Given the description of an element on the screen output the (x, y) to click on. 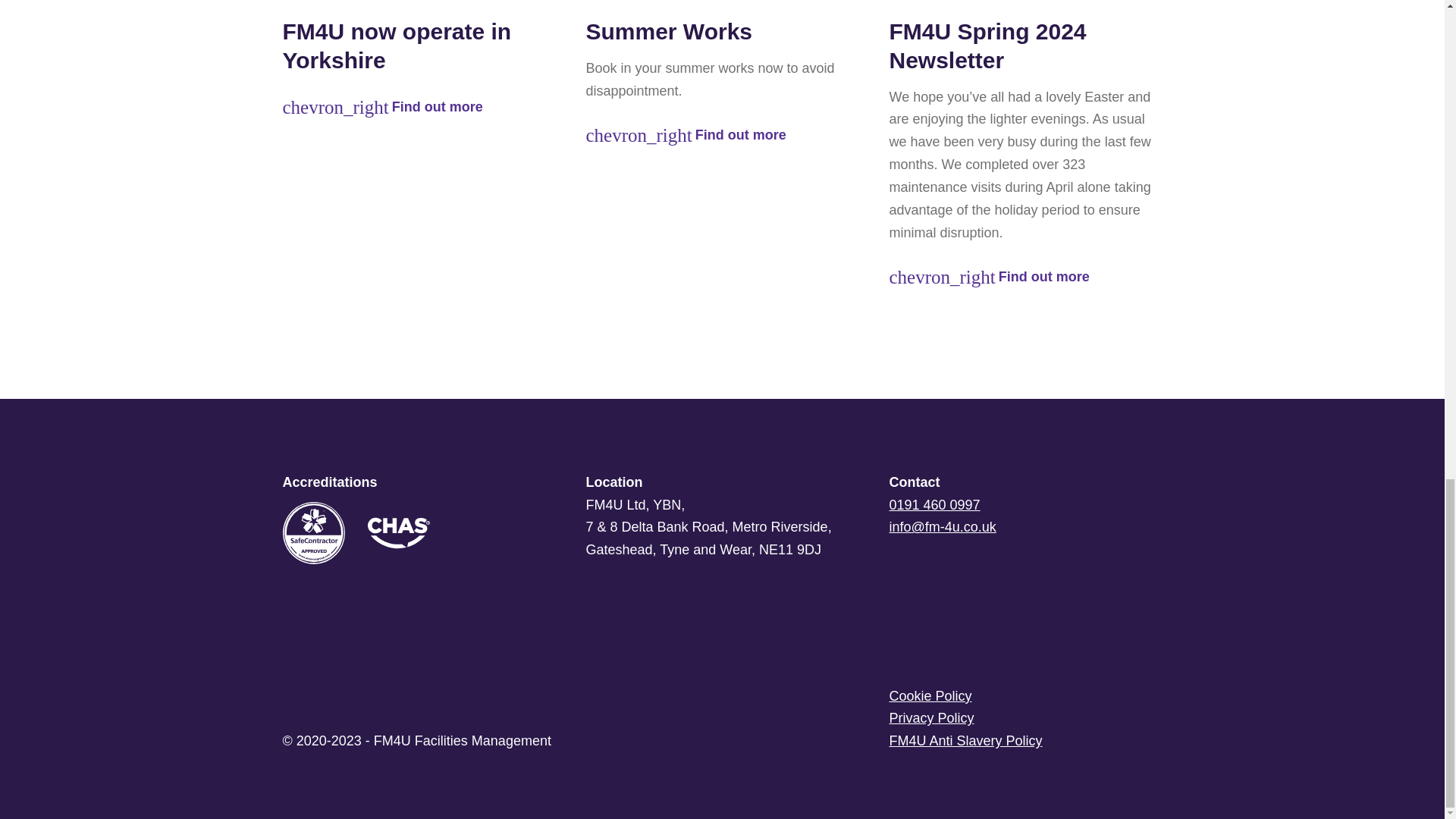
Privacy Policy (1024, 718)
0191 460 0997 (933, 505)
Cookie Policy (1024, 696)
FM4U Anti Slavery Policy (1024, 741)
